Given the description of an element on the screen output the (x, y) to click on. 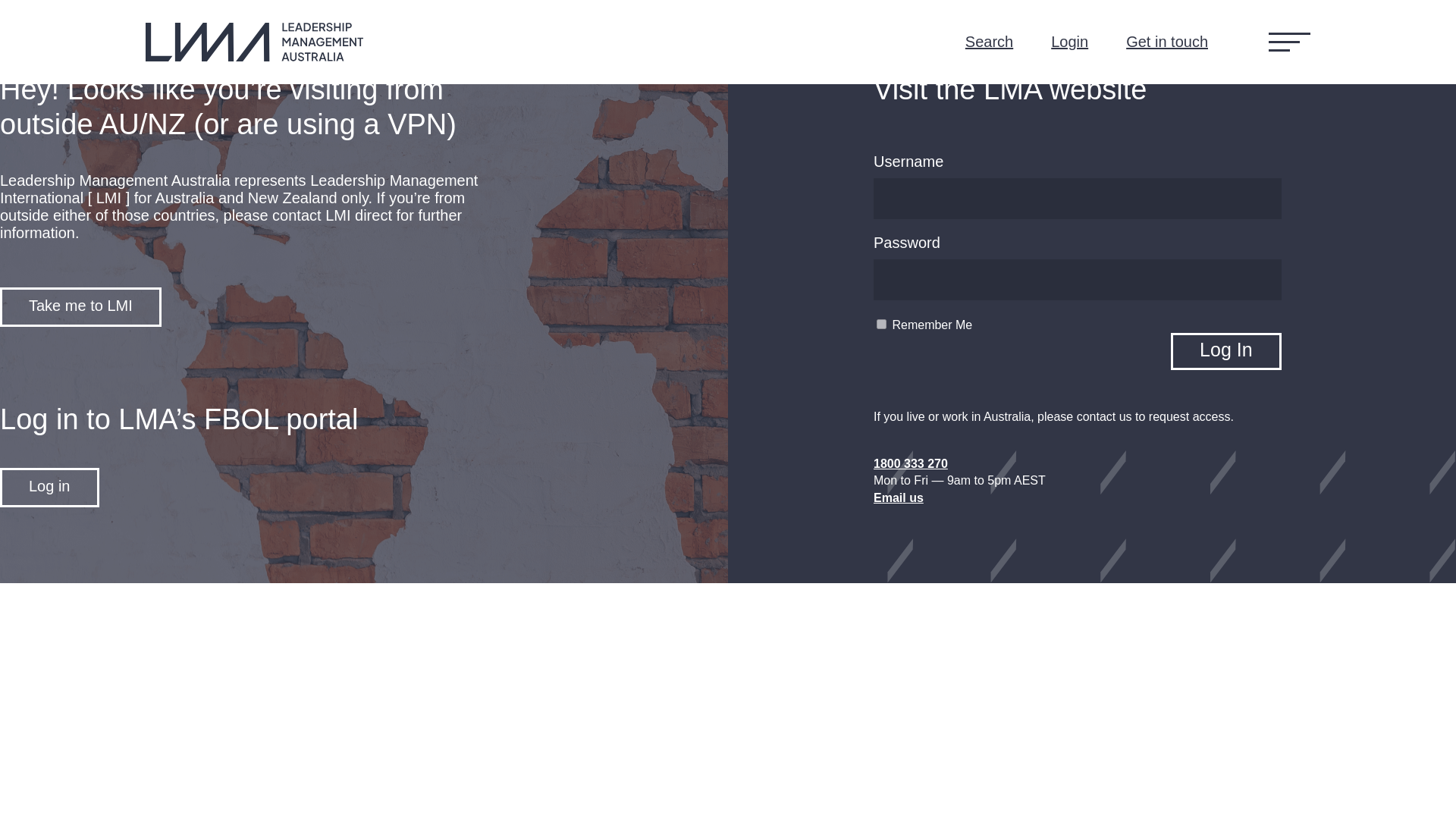
Get in touch (1166, 41)
Login (1069, 41)
forever (881, 324)
Search (989, 41)
Log In (1225, 351)
